Given the description of an element on the screen output the (x, y) to click on. 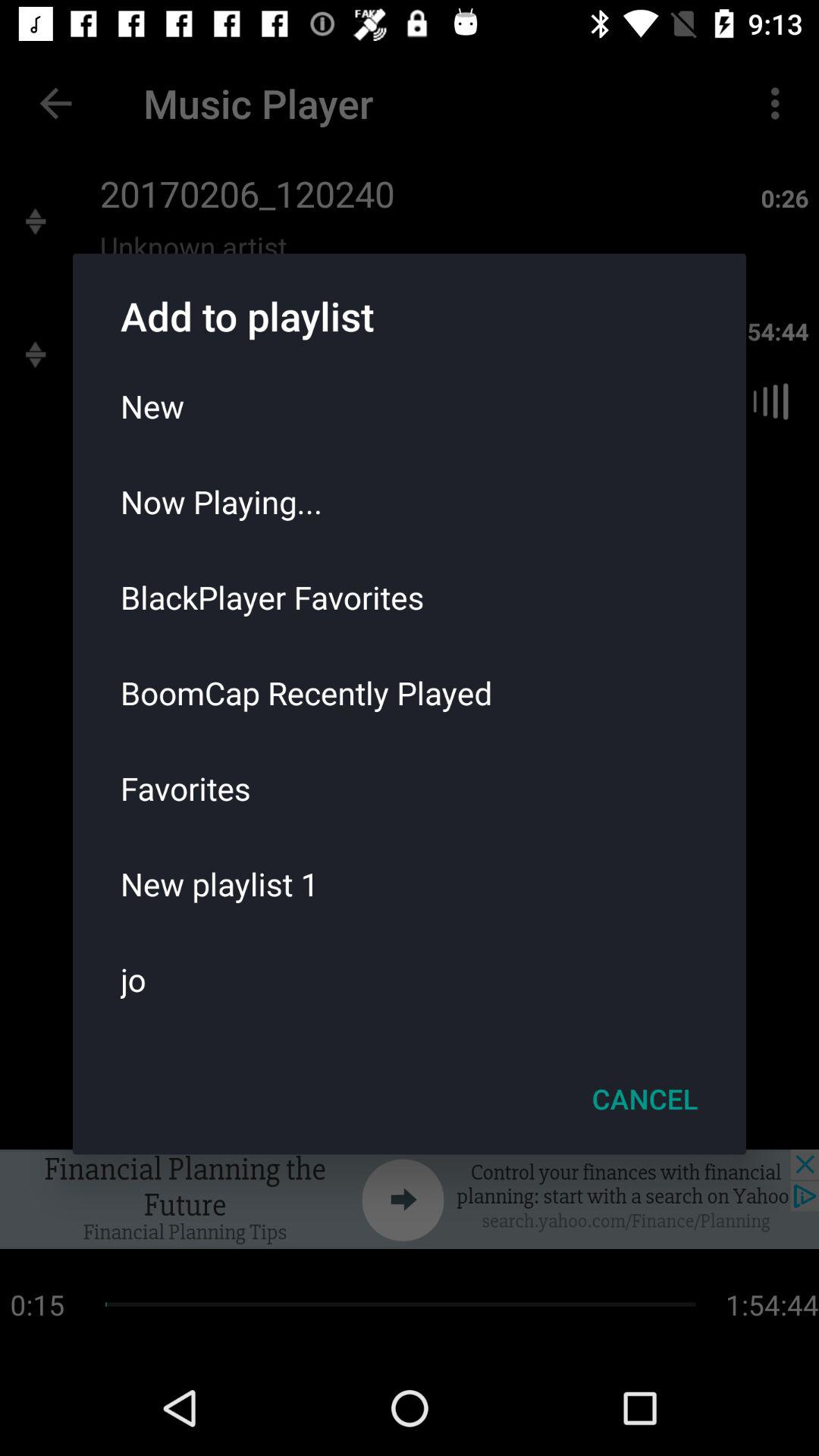
tap the new playlist 1 item (409, 883)
